Given the description of an element on the screen output the (x, y) to click on. 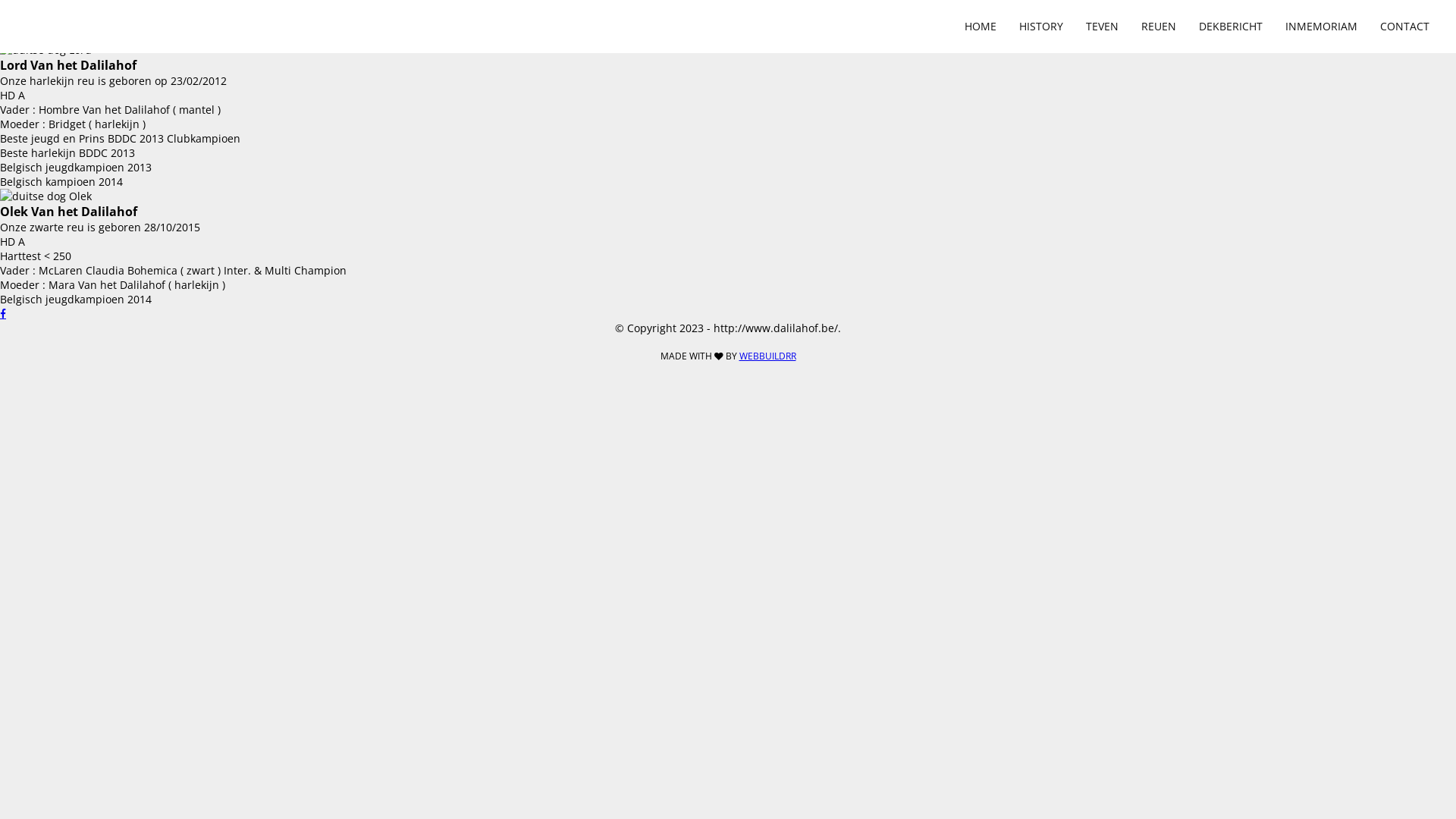
WEBBUILDRR Element type: text (766, 355)
TEVEN Element type: text (1101, 26)
INMEMORIAM Element type: text (1321, 26)
REUEN Element type: text (1158, 26)
HOME Element type: text (980, 26)
CONTACT Element type: text (1404, 26)
DEKBERICHT Element type: text (1230, 26)
HISTORY Element type: text (1040, 26)
